Given the description of an element on the screen output the (x, y) to click on. 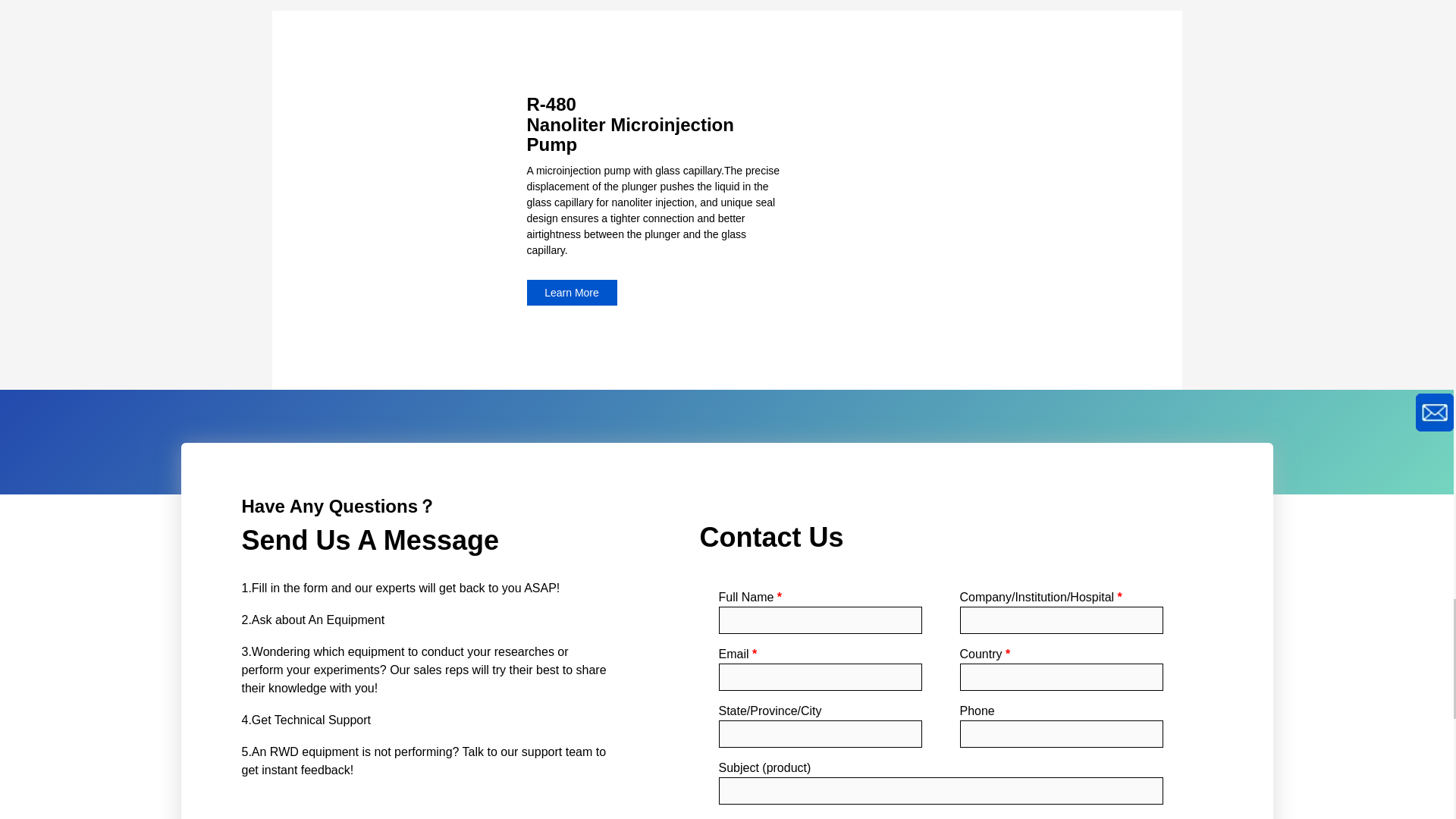
Learn More (570, 292)
